Given the description of an element on the screen output the (x, y) to click on. 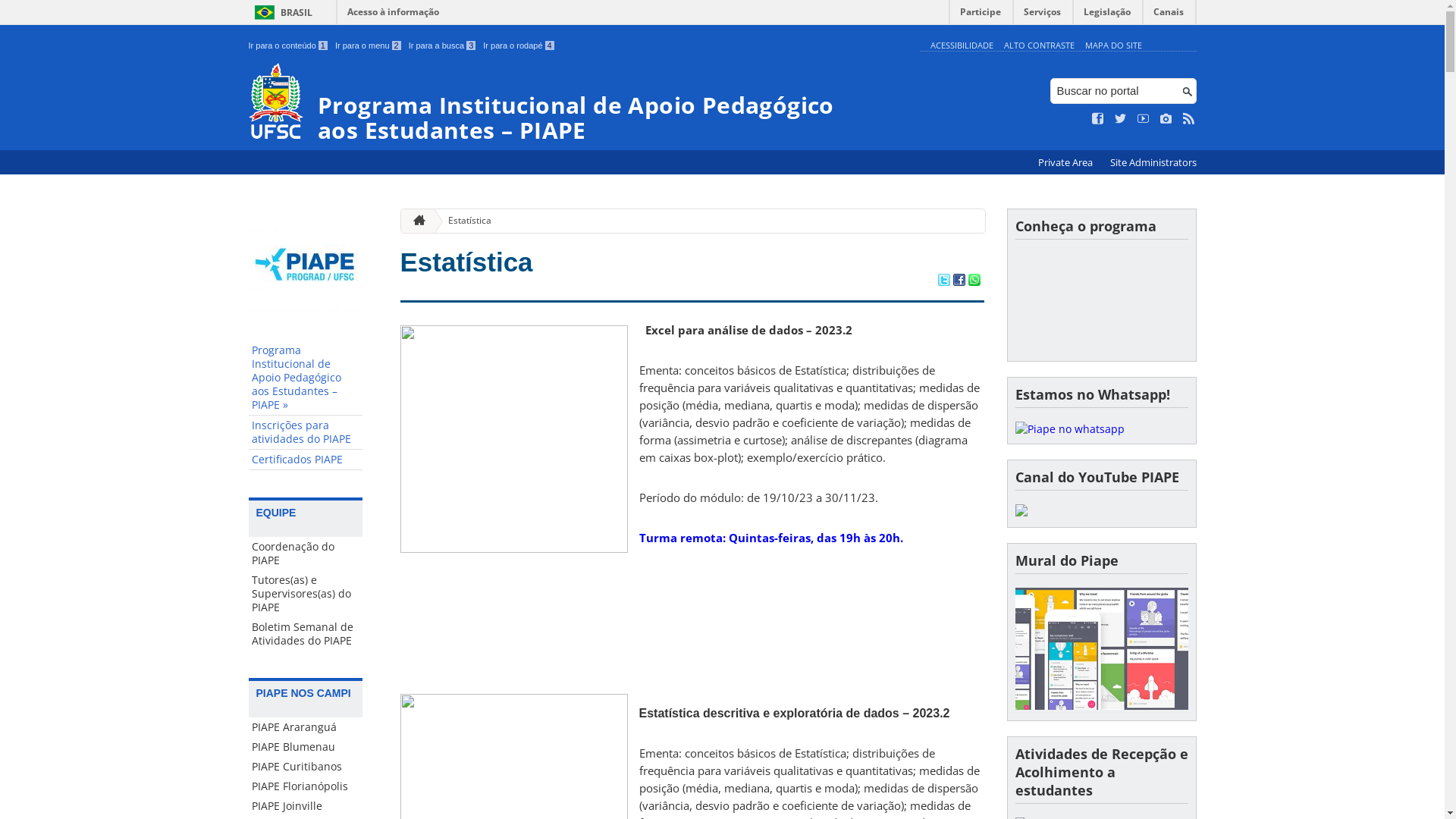
Ir para a busca 3 Element type: text (442, 45)
Compartilhar no Facebook Element type: hover (958, 280)
BRASIL Element type: text (280, 12)
Site Administrators Element type: text (1153, 162)
Veja no Instagram Element type: hover (1166, 118)
Curta no Facebook Element type: hover (1098, 118)
PIAPE Joinville Element type: text (305, 805)
Tutores(as) e Supervisores(as) do PIAPE Element type: text (305, 593)
Ir para o menu 2 Element type: text (368, 45)
Private Area Element type: text (1065, 162)
Compartilhar no WhatsApp Element type: hover (973, 280)
ACESSIBILIDADE Element type: text (960, 44)
Compartilhar no Twitter Element type: hover (943, 280)
PIAPE Blumenau Element type: text (305, 746)
Siga no Twitter Element type: hover (1120, 118)
Canais Element type: text (1169, 15)
PIAPE Curitibanos Element type: text (305, 766)
ALTO CONTRASTE Element type: text (1039, 44)
MAPA DO SITE Element type: text (1112, 44)
Boletim Semanal de Atividades do PIAPE Element type: text (305, 633)
Certificados PIAPE Element type: text (305, 459)
Participe Element type: text (980, 15)
